Given the description of an element on the screen output the (x, y) to click on. 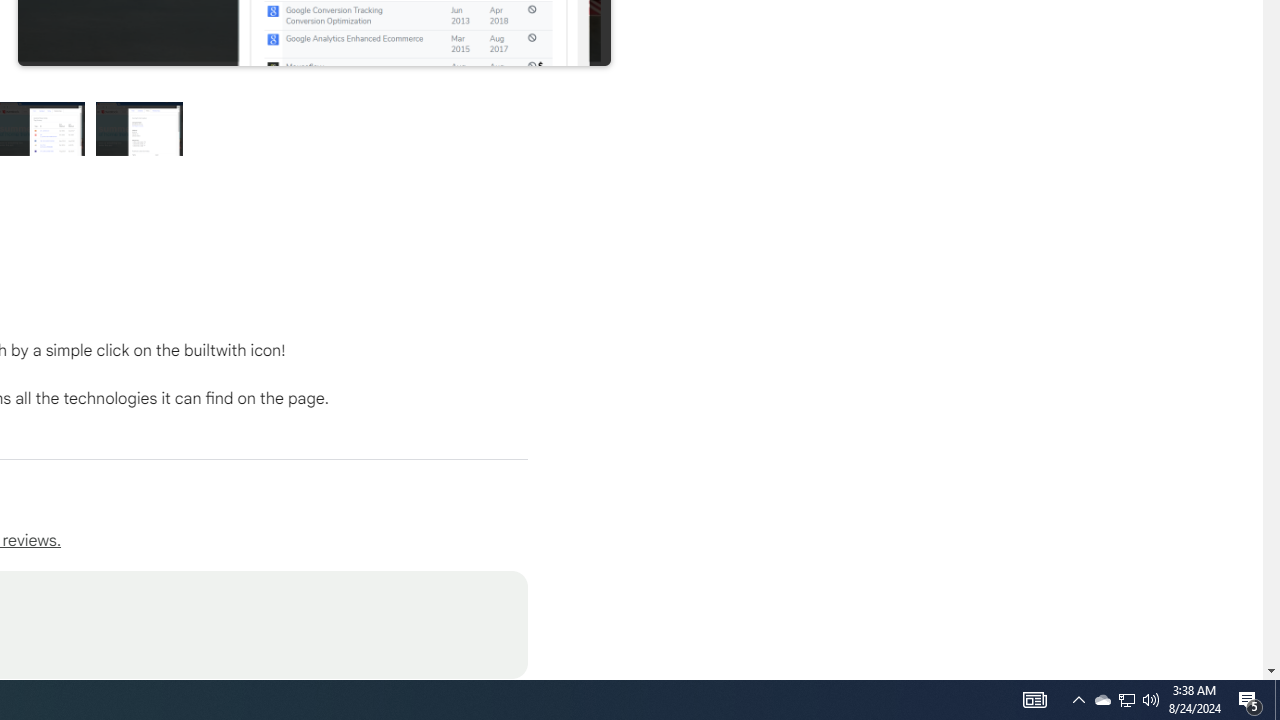
Preview slide 4 (140, 128)
